Given the description of an element on the screen output the (x, y) to click on. 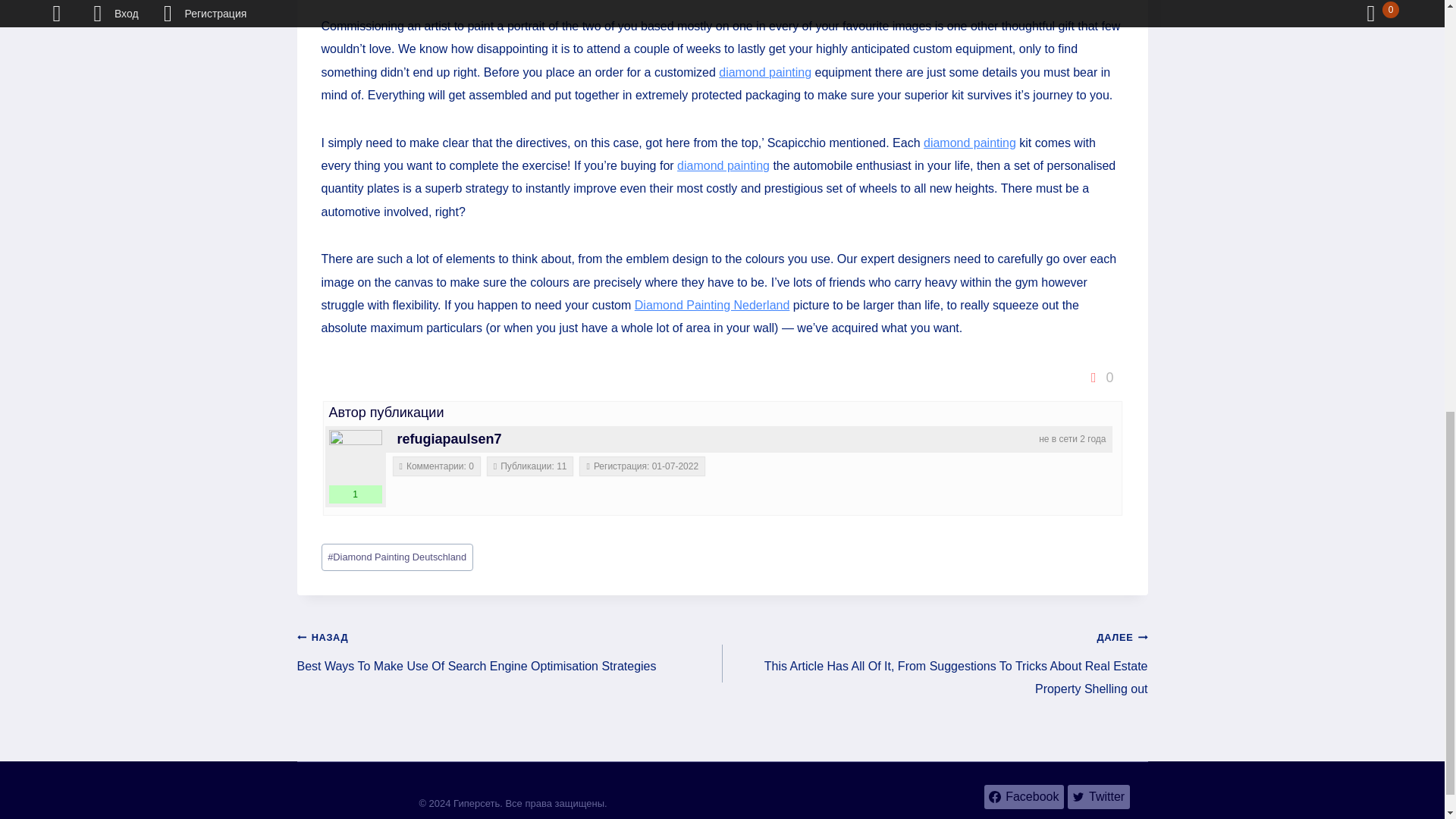
Twitter (1098, 796)
Diamond Painting Deutschland (397, 557)
refugiapaulsen7 (355, 456)
Facebook (1024, 796)
diamond painting (723, 164)
Diamond Painting Nederland (712, 305)
refugiapaulsen7 (449, 438)
diamond painting (969, 142)
diamond painting (764, 72)
